Given the description of an element on the screen output the (x, y) to click on. 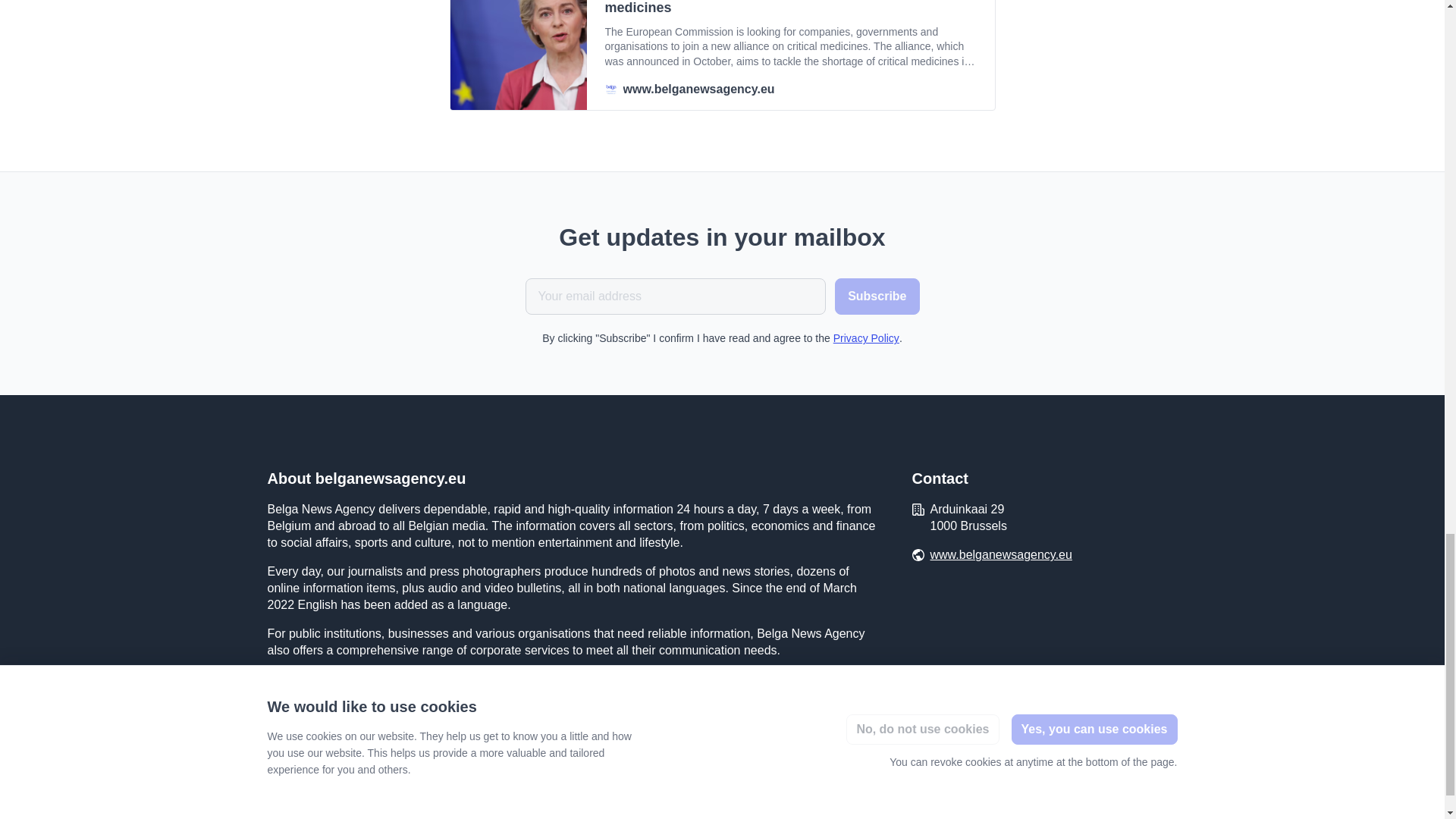
European Commission launches alliance for critical medicines (790, 9)
www.belganewsagency.eu (1000, 555)
Start using cookies (402, 815)
Subscribe (876, 296)
Made with (1109, 810)
Privacy requests (305, 814)
www.belganewsagency.eu (790, 89)
Privacy Policy (865, 337)
